Given the description of an element on the screen output the (x, y) to click on. 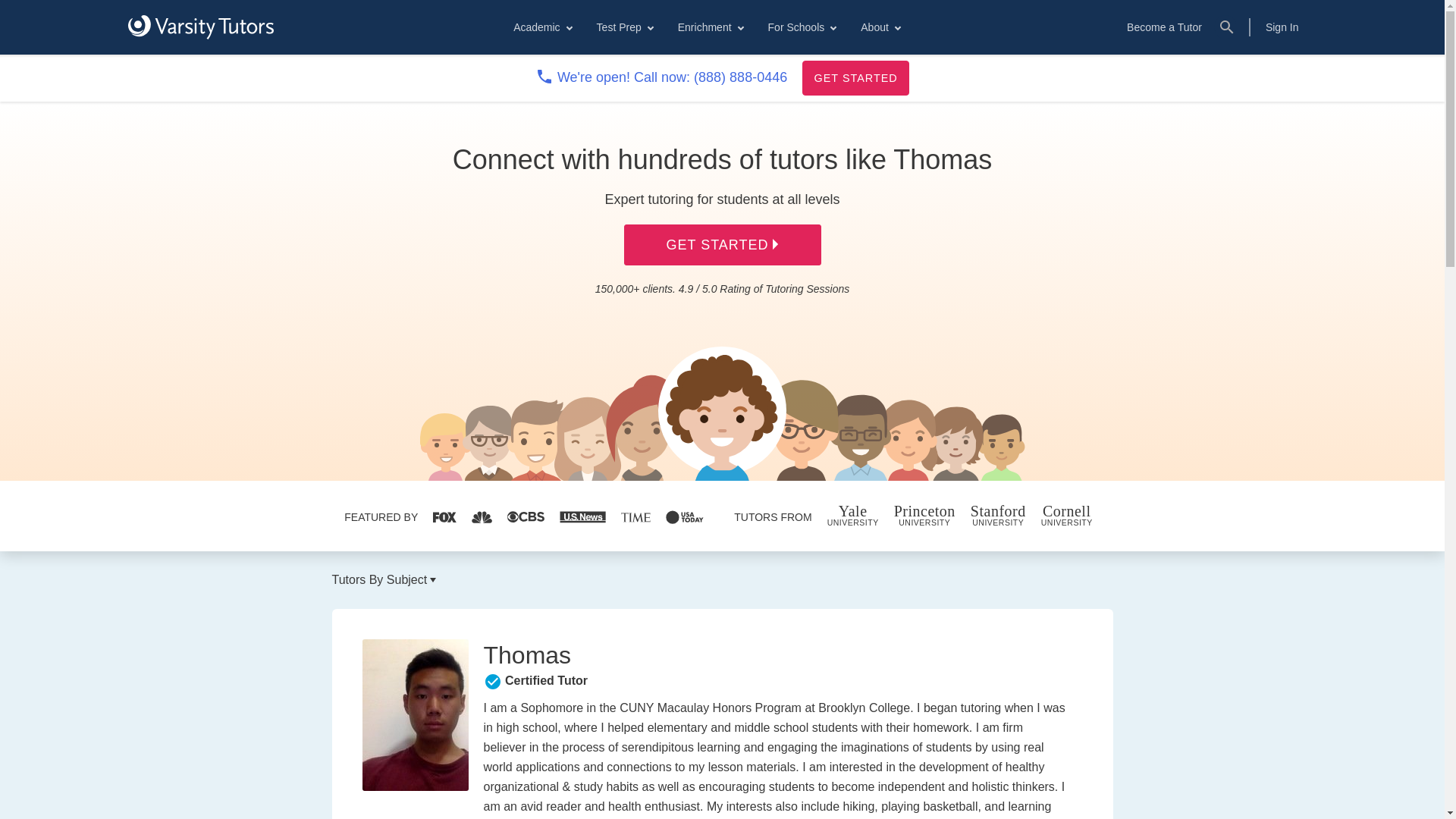
Varsity Tutors (200, 26)
Varsity Tutors (200, 27)
Academic (541, 27)
GET STARTED (855, 77)
